Given the description of an element on the screen output the (x, y) to click on. 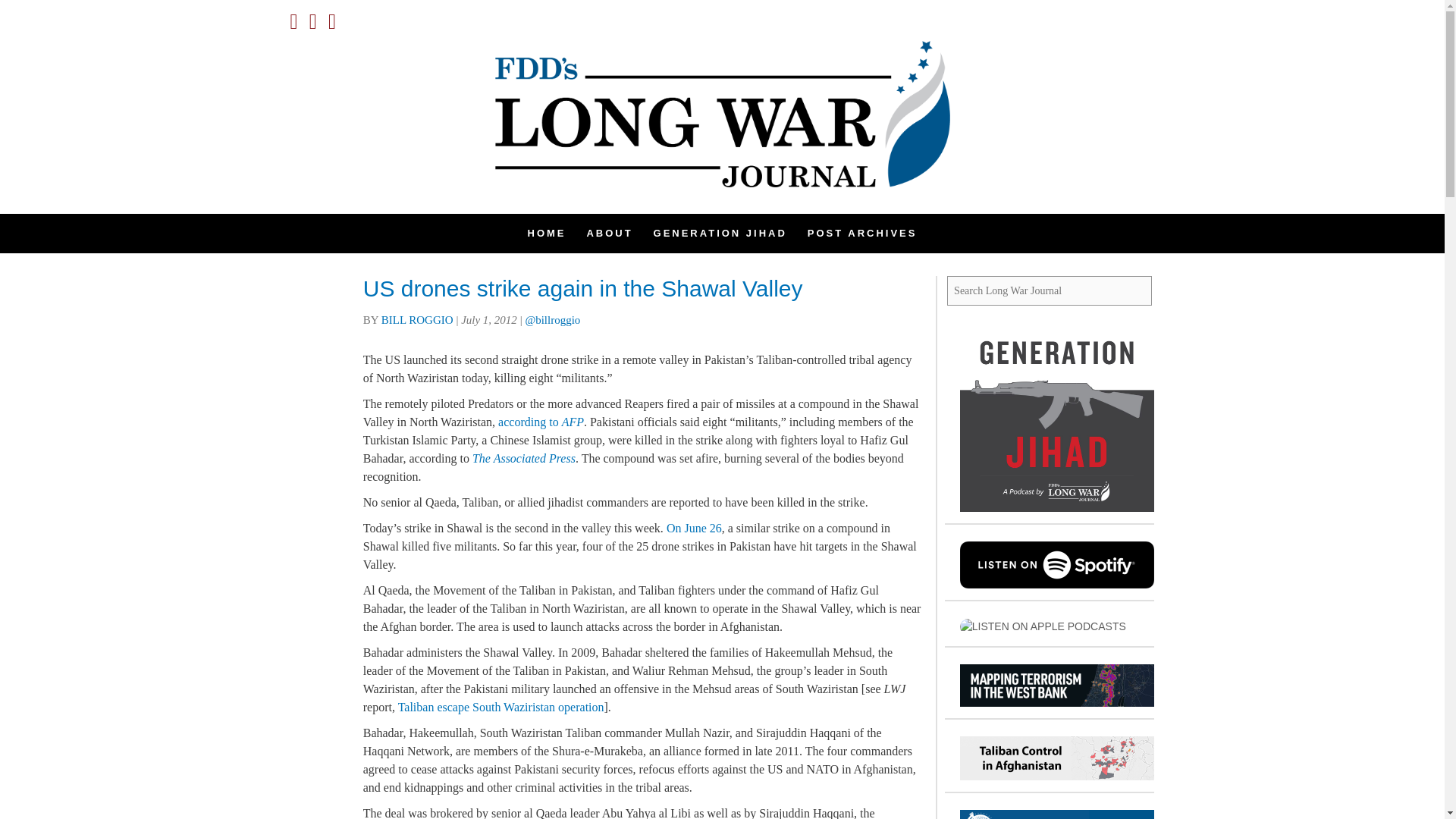
US drones strike again in the Shawal Valley (582, 288)
ABOUT (608, 233)
BILL ROGGIO (416, 319)
HOME (546, 233)
according to AFP (540, 421)
Taliban escape South Waziristan operation (500, 707)
GENERATION JIHAD (720, 233)
POST ARCHIVES (862, 233)
The Associated Press (523, 458)
On June 26 (694, 527)
Posts by Bill Roggio (416, 319)
